Given the description of an element on the screen output the (x, y) to click on. 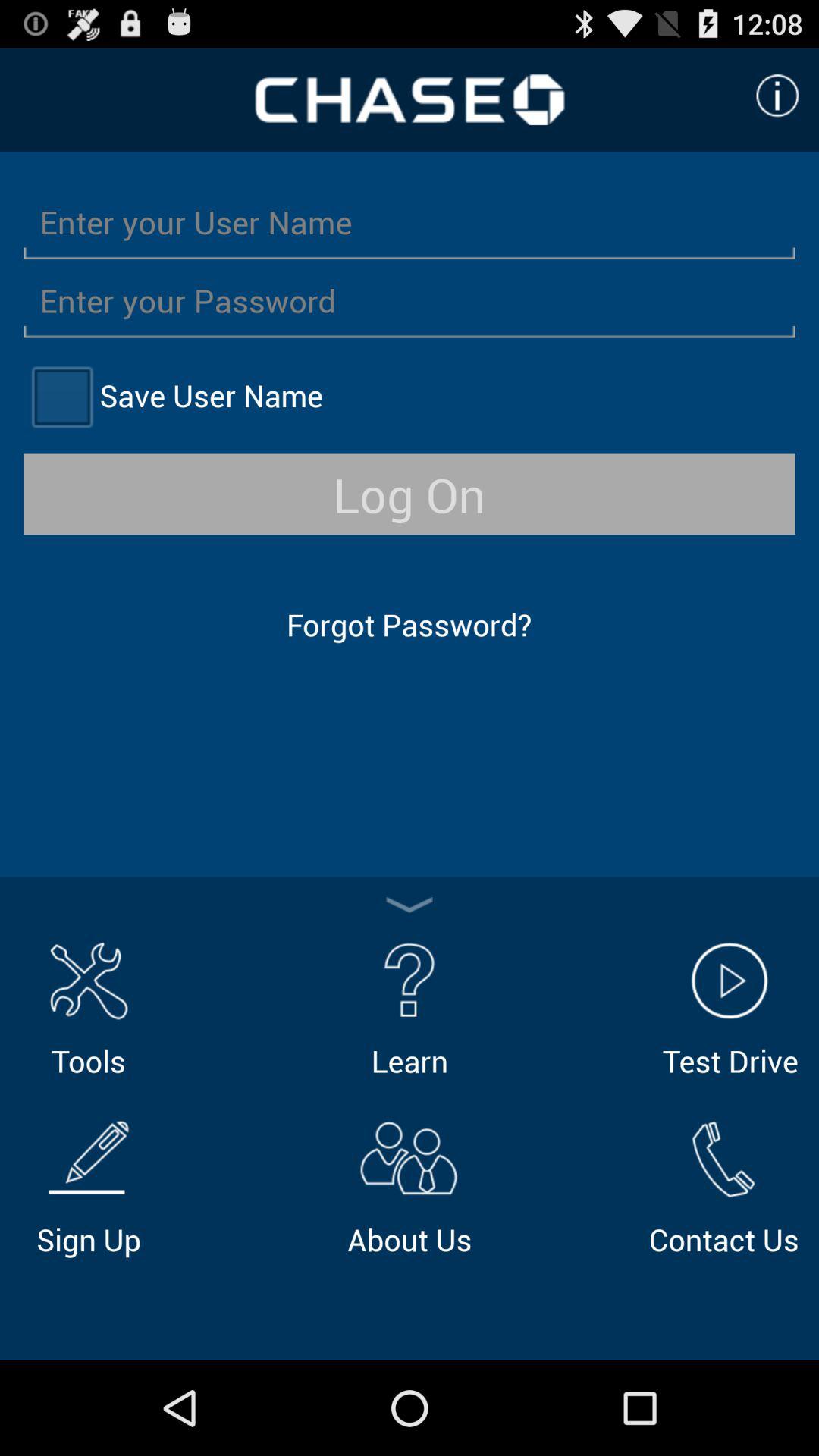
click the icon to the left of about us (88, 1185)
